Given the description of an element on the screen output the (x, y) to click on. 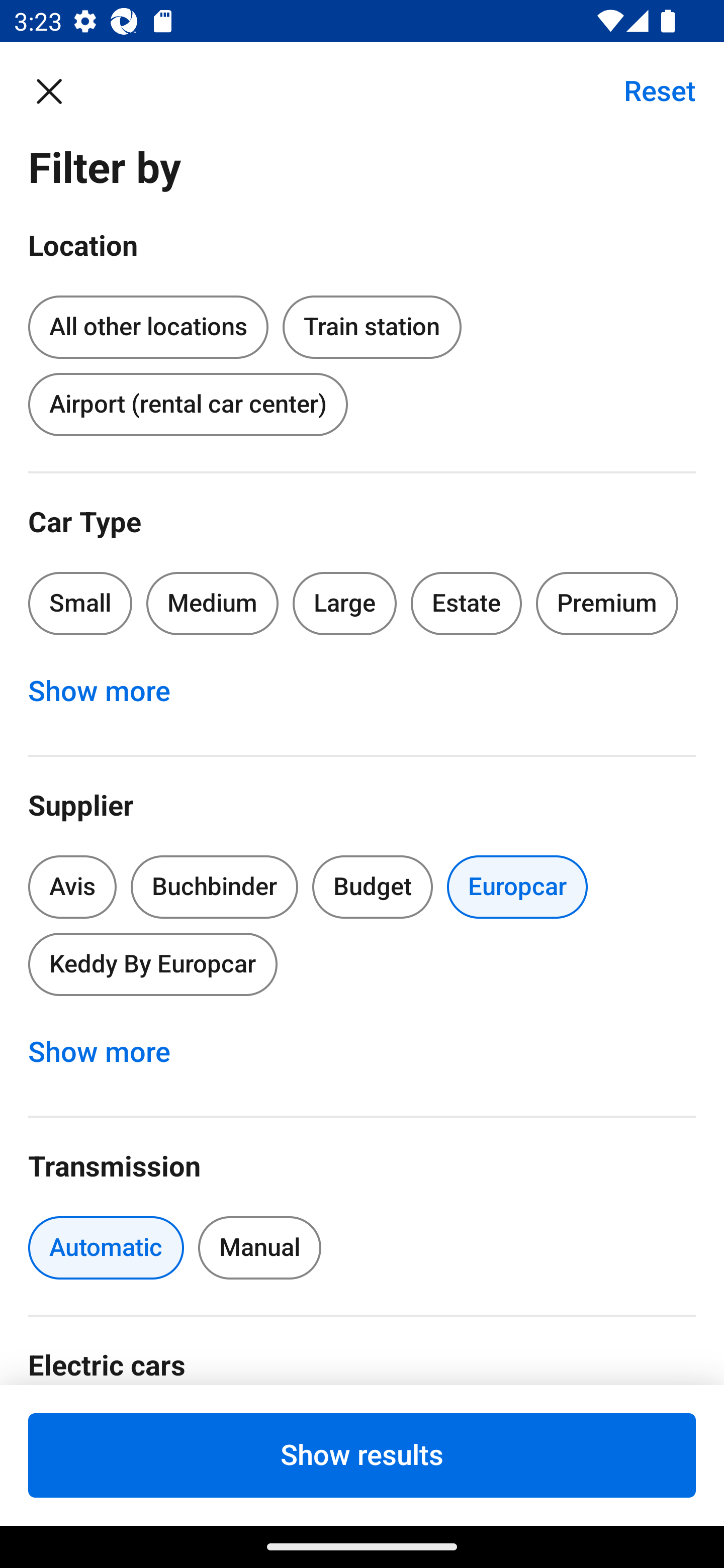
Close (59, 90)
Reset (649, 90)
All other locations (148, 323)
Train station (371, 327)
Airport (rental car center) (187, 404)
Small (80, 603)
Medium (212, 603)
Large (344, 603)
Estate (466, 603)
Premium (606, 603)
Show more (109, 691)
Avis (72, 887)
Buchbinder (214, 887)
Budget (372, 887)
Keddy By Europcar (152, 963)
Show more (109, 1051)
Manual (259, 1247)
Show results (361, 1454)
